Given the description of an element on the screen output the (x, y) to click on. 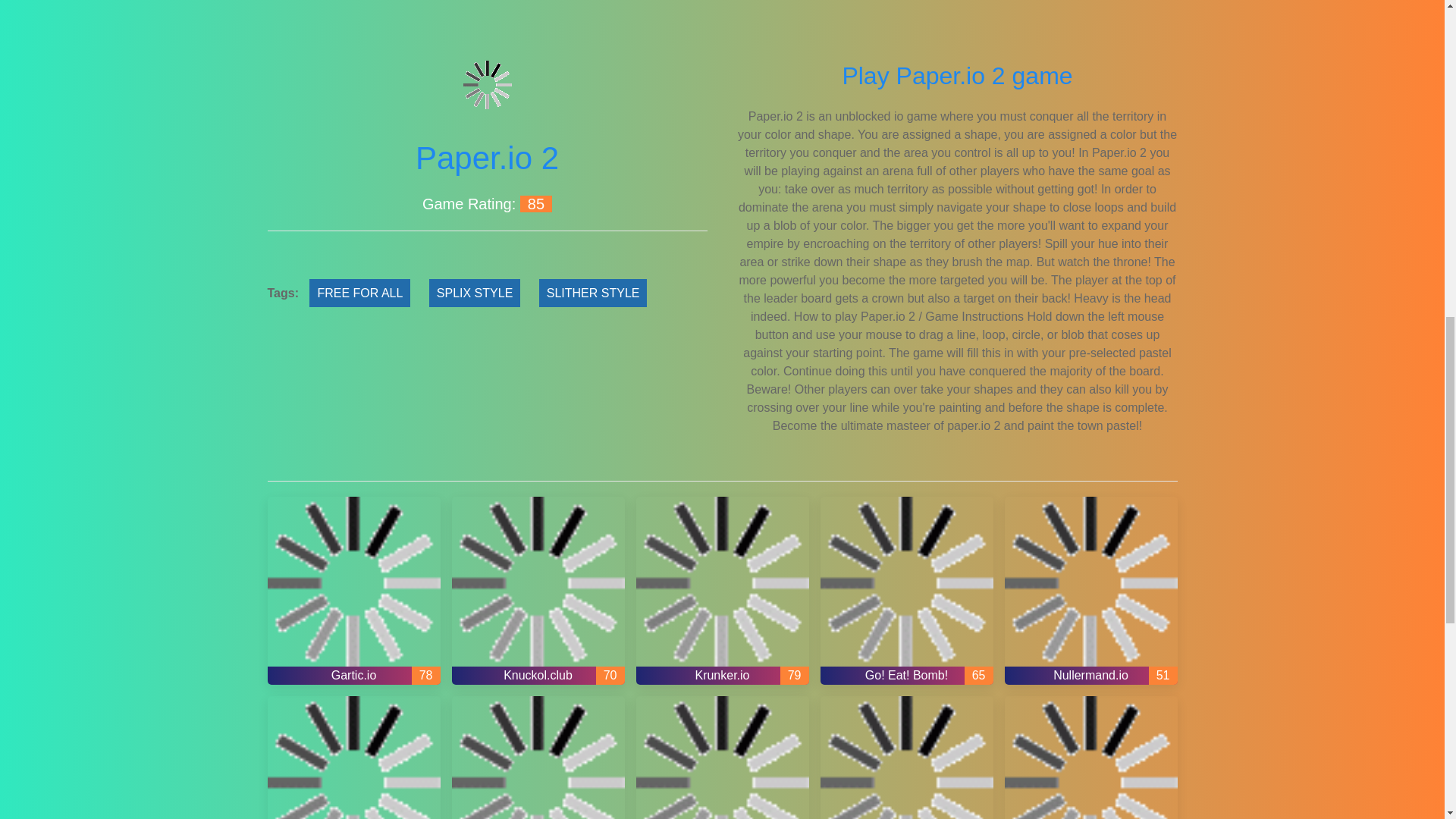
defly.io (721, 757)
Conquer Game (1090, 757)
Paper.io (906, 757)
Go! Eat! Bomb! (906, 590)
Gartic.io (352, 590)
Boas.io (352, 757)
Knuckol.club (537, 590)
Nullermand.io (1090, 590)
TileMan.io (537, 757)
Krunker.io (721, 590)
